Given the description of an element on the screen output the (x, y) to click on. 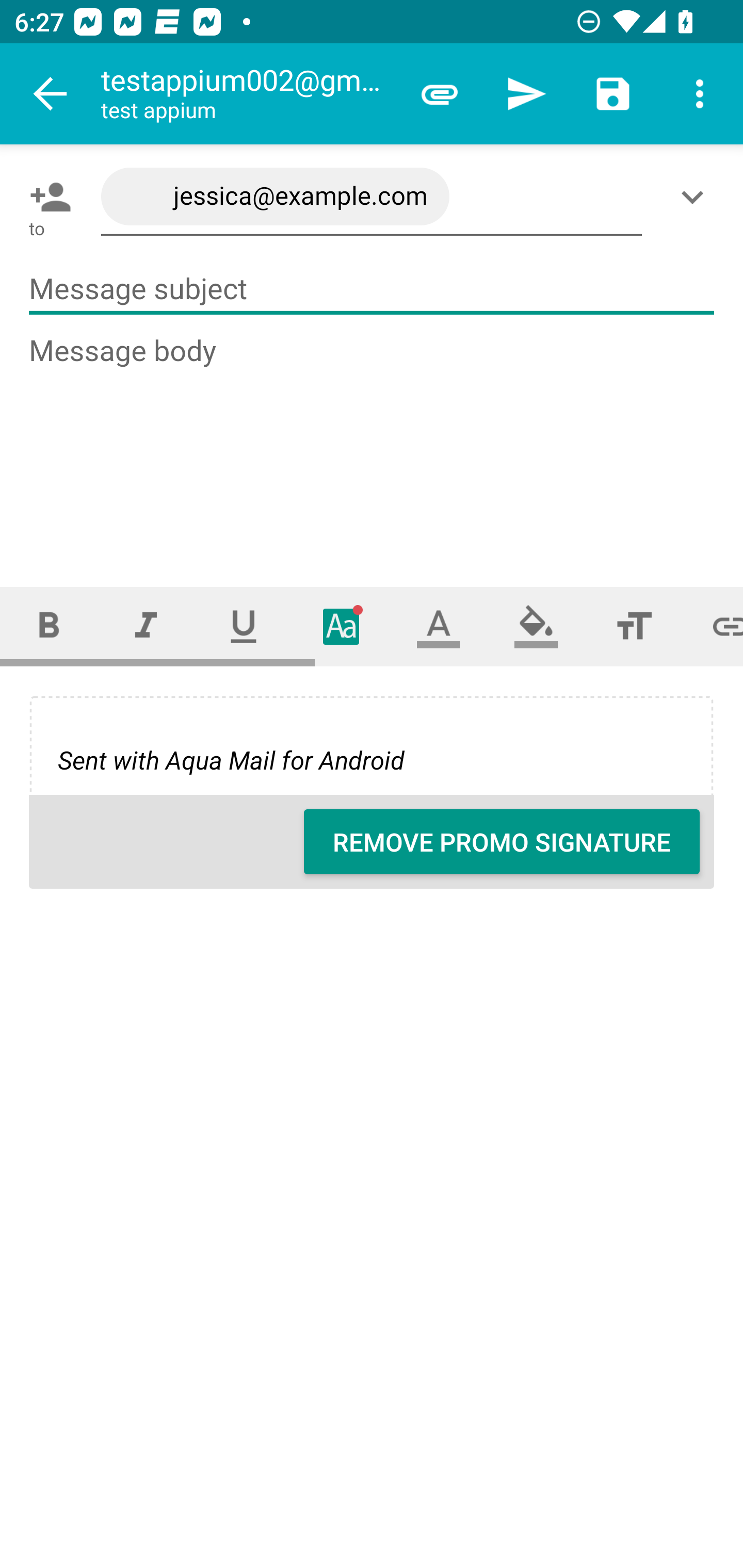
Navigate up (50, 93)
testappium002@gmail.com test appium (248, 93)
Attach (439, 93)
Send (525, 93)
Save (612, 93)
More options (699, 93)
jessica@example.com,  (371, 197)
Pick contact: To (46, 196)
Show/Add CC/BCC (696, 196)
Message subject (371, 288)
Message body (372, 442)
Bold (48, 626)
Italic (145, 626)
Underline (243, 626)
Typeface (font) (341, 626)
Text color (438, 626)
Fill color (536, 626)
Font size (633, 626)
REMOVE PROMO SIGNATURE (501, 841)
